Given the description of an element on the screen output the (x, y) to click on. 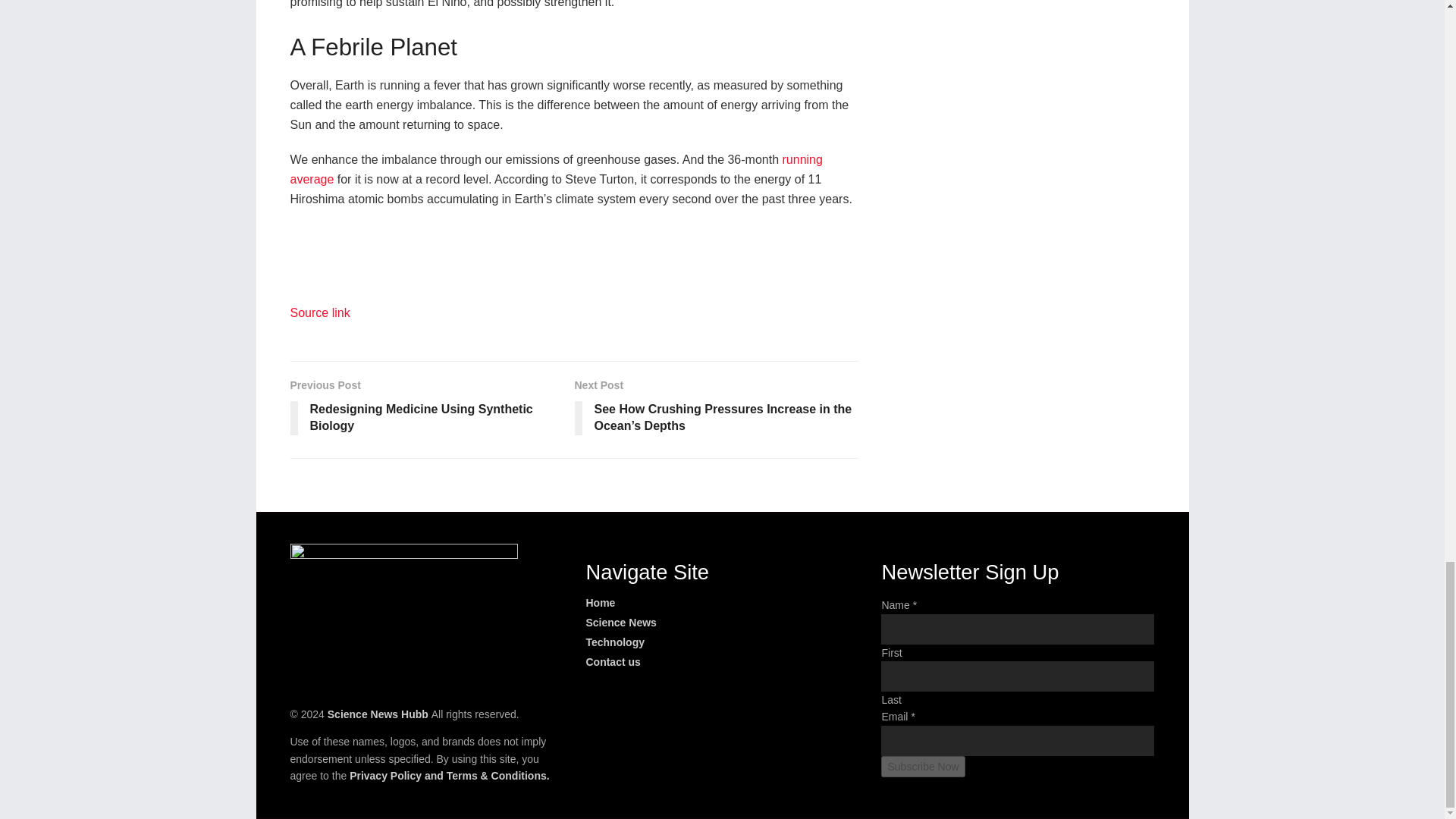
running average (431, 409)
Source link (555, 169)
science-26 (319, 312)
